Given the description of an element on the screen output the (x, y) to click on. 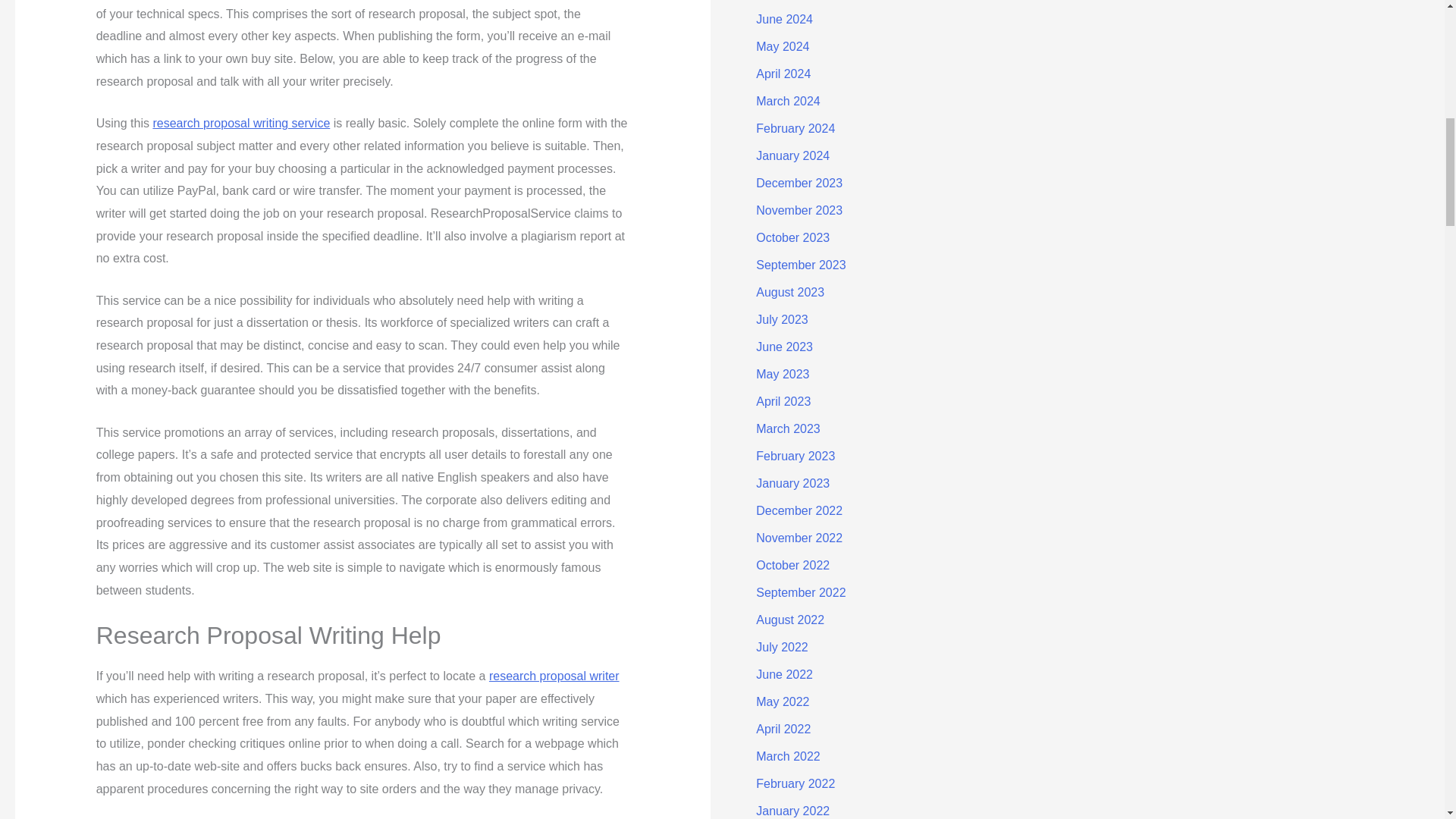
research proposal writer (554, 675)
research proposal writing service (241, 123)
